Given the description of an element on the screen output the (x, y) to click on. 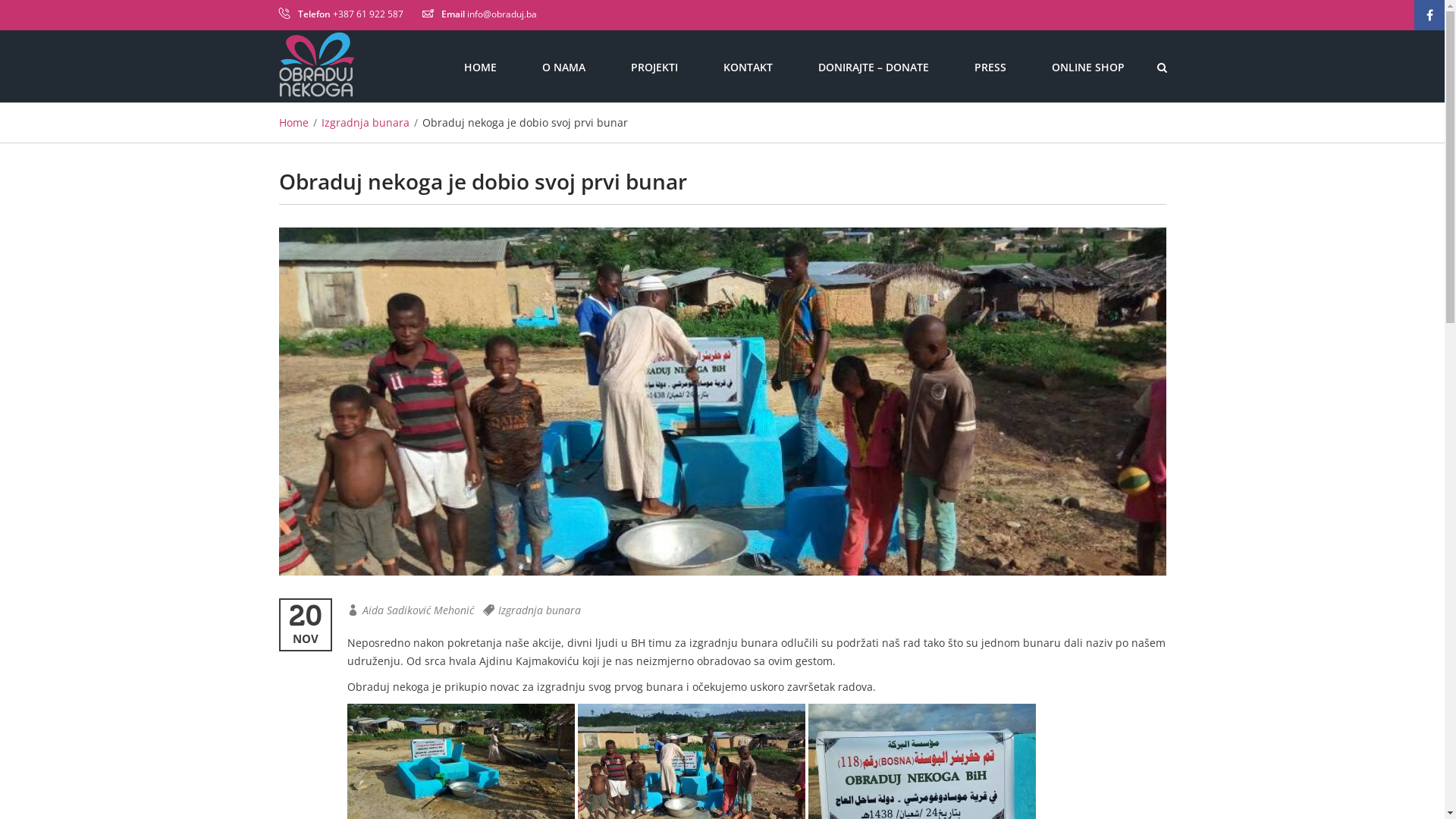
info@obraduj.ba Element type: text (501, 13)
KONTAKT Element type: text (747, 66)
Home Element type: text (293, 122)
HOME Element type: text (480, 66)
ONLINE SHOP Element type: text (1087, 66)
Izgradnja bunara Element type: text (538, 609)
PRESS Element type: text (989, 66)
Izgradnja bunara Element type: text (365, 122)
PROJEKTI Element type: text (653, 66)
O NAMA Element type: text (562, 66)
